Given the description of an element on the screen output the (x, y) to click on. 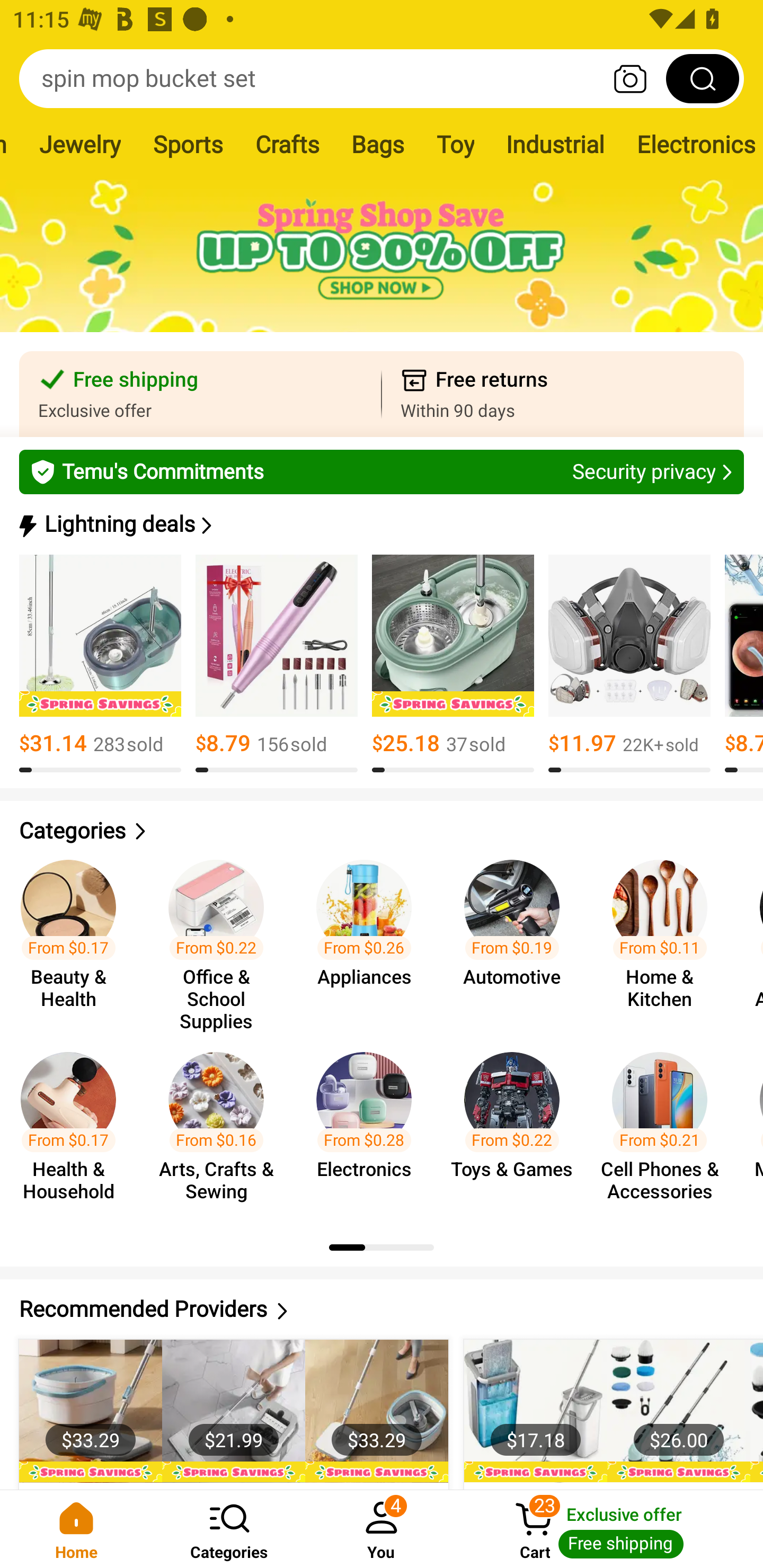
spin mop bucket set (381, 78)
Jewelry (79, 144)
Sports (187, 144)
Crafts (286, 144)
Bags (377, 144)
Toy (454, 144)
Industrial (554, 144)
Electronics (691, 144)
Free shipping Exclusive offer (200, 394)
Free returns Within 90 days (562, 394)
Temu's Commitments (381, 471)
Lightning deals (379, 524)
$31.14 283￼sold 8.0 (100, 664)
$8.79 156￼sold 8.0 (276, 664)
$25.18 37￼sold 8.0 (453, 664)
$11.97 22K+￼sold 8.0 (629, 664)
Categories (381, 830)
From $0.17 Beauty & Health (74, 936)
From $0.22 Office & School Supplies (222, 936)
From $0.26 Appliances (369, 936)
From $0.19 Automotive (517, 936)
From $0.11 Home & Kitchen (665, 936)
From $0.17 Health & Household (74, 1128)
From $0.16 Arts, Crafts & Sewing (222, 1128)
From $0.28 Electronics (369, 1128)
From $0.22 Toys & Games (517, 1128)
From $0.21 Cell Phones & Accessories (665, 1128)
Recommended Providers (381, 1309)
Home (76, 1528)
Categories (228, 1528)
You 4 You (381, 1528)
Cart 23 Cart Exclusive offer (610, 1528)
